Given the description of an element on the screen output the (x, y) to click on. 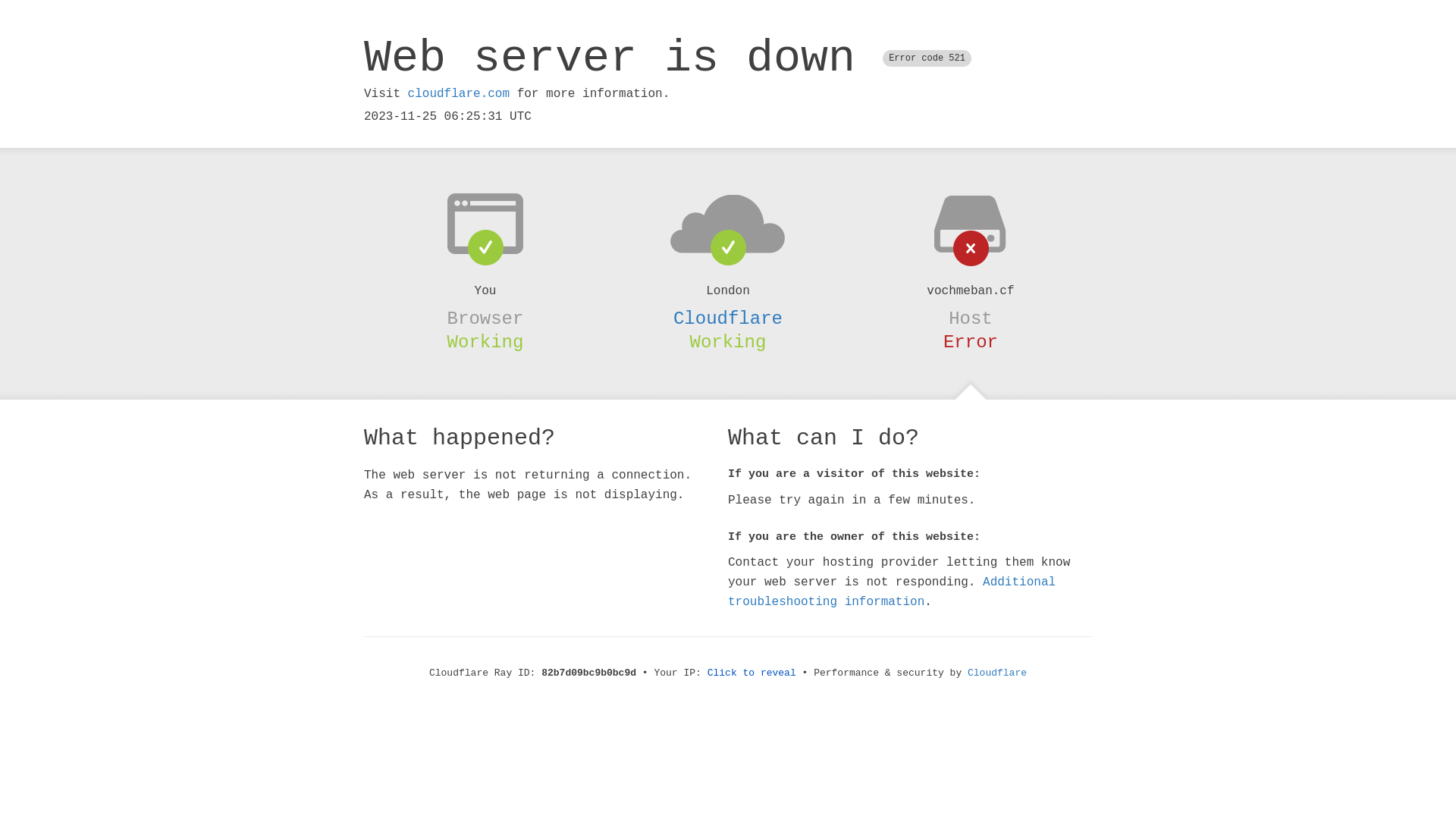
Cloudflare Element type: text (727, 318)
cloudflare.com Element type: text (458, 93)
Additional troubleshooting information Element type: text (891, 591)
Cloudflare Element type: text (996, 672)
Click to reveal Element type: text (751, 672)
